Given the description of an element on the screen output the (x, y) to click on. 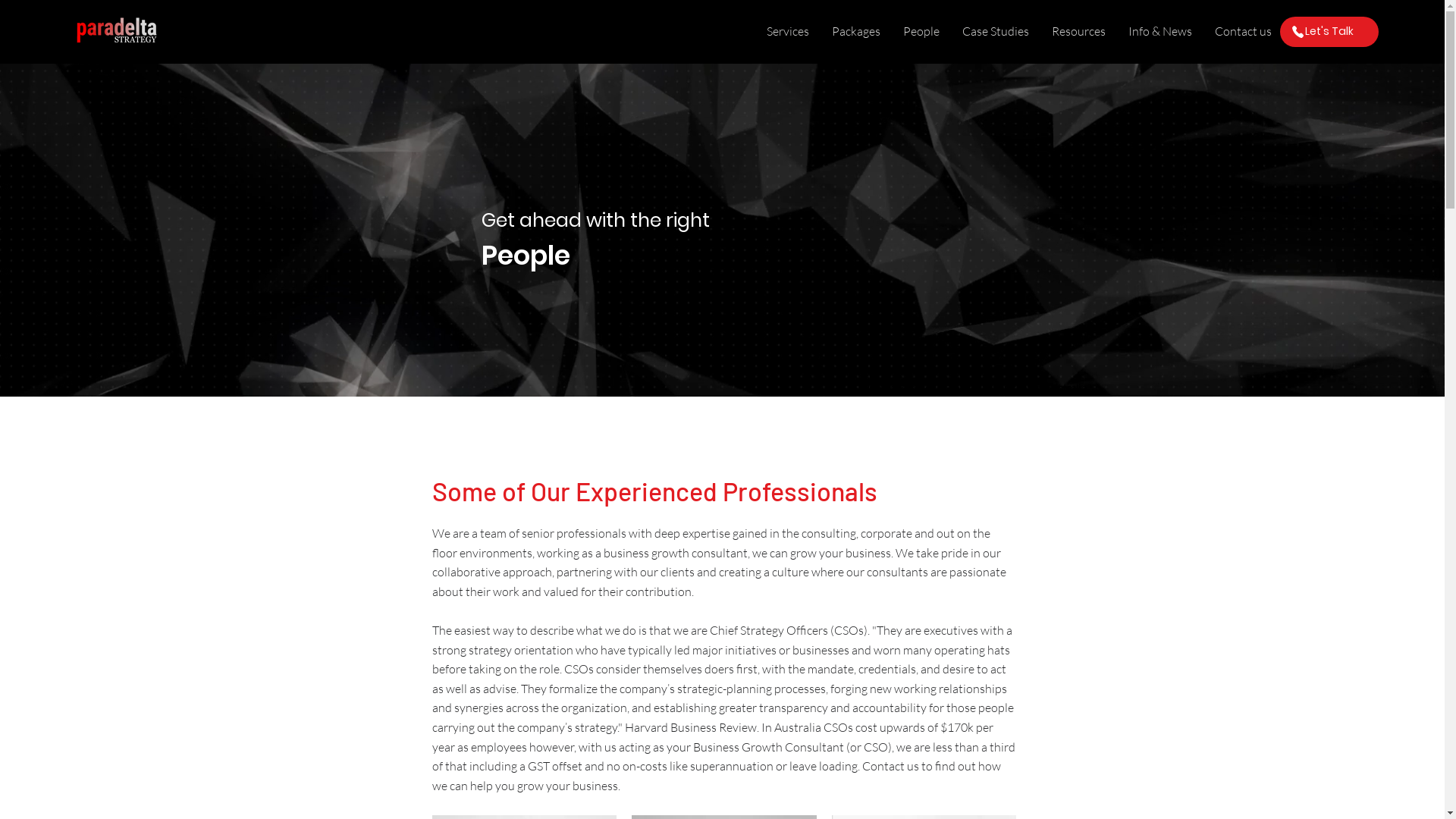
Let's Talk Element type: text (1329, 31)
grow your business Element type: text (567, 785)
Packages Element type: text (855, 31)
Services Element type: text (787, 31)
Harvard Business Review. Element type: text (691, 726)
Contact us Element type: text (889, 765)
Contact us Element type: text (1243, 31)
Info & News Element type: text (1160, 31)
People Element type: text (920, 31)
Case Studies Element type: text (995, 31)
Resources Element type: text (1078, 31)
